Given the description of an element on the screen output the (x, y) to click on. 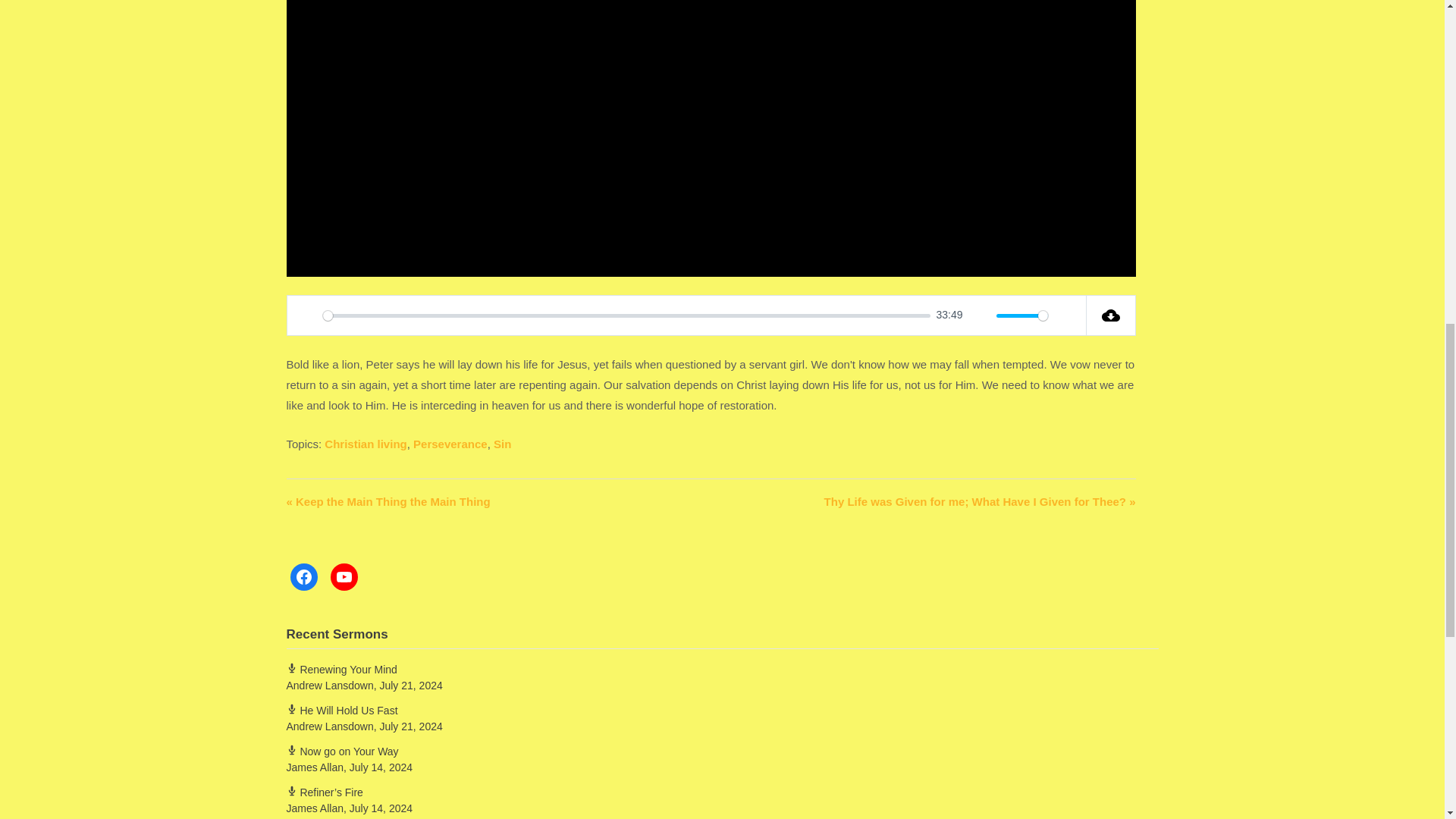
Download Audio File (1110, 314)
Christian living (365, 443)
He Will Hold Us Fast (341, 710)
Now go on Your Way (342, 751)
Mute (980, 315)
0 (626, 315)
Sin (502, 443)
Perseverance (450, 443)
1 (1021, 315)
Play (306, 315)
Renewing Your Mind (341, 669)
Settings (1066, 315)
